Given the description of an element on the screen output the (x, y) to click on. 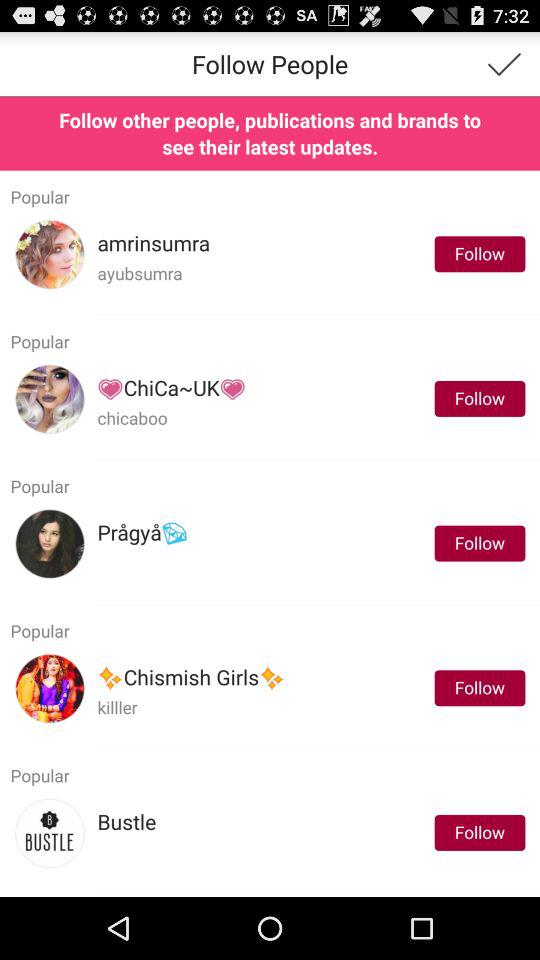
launch item to the left of the follow app (153, 243)
